Given the description of an element on the screen output the (x, y) to click on. 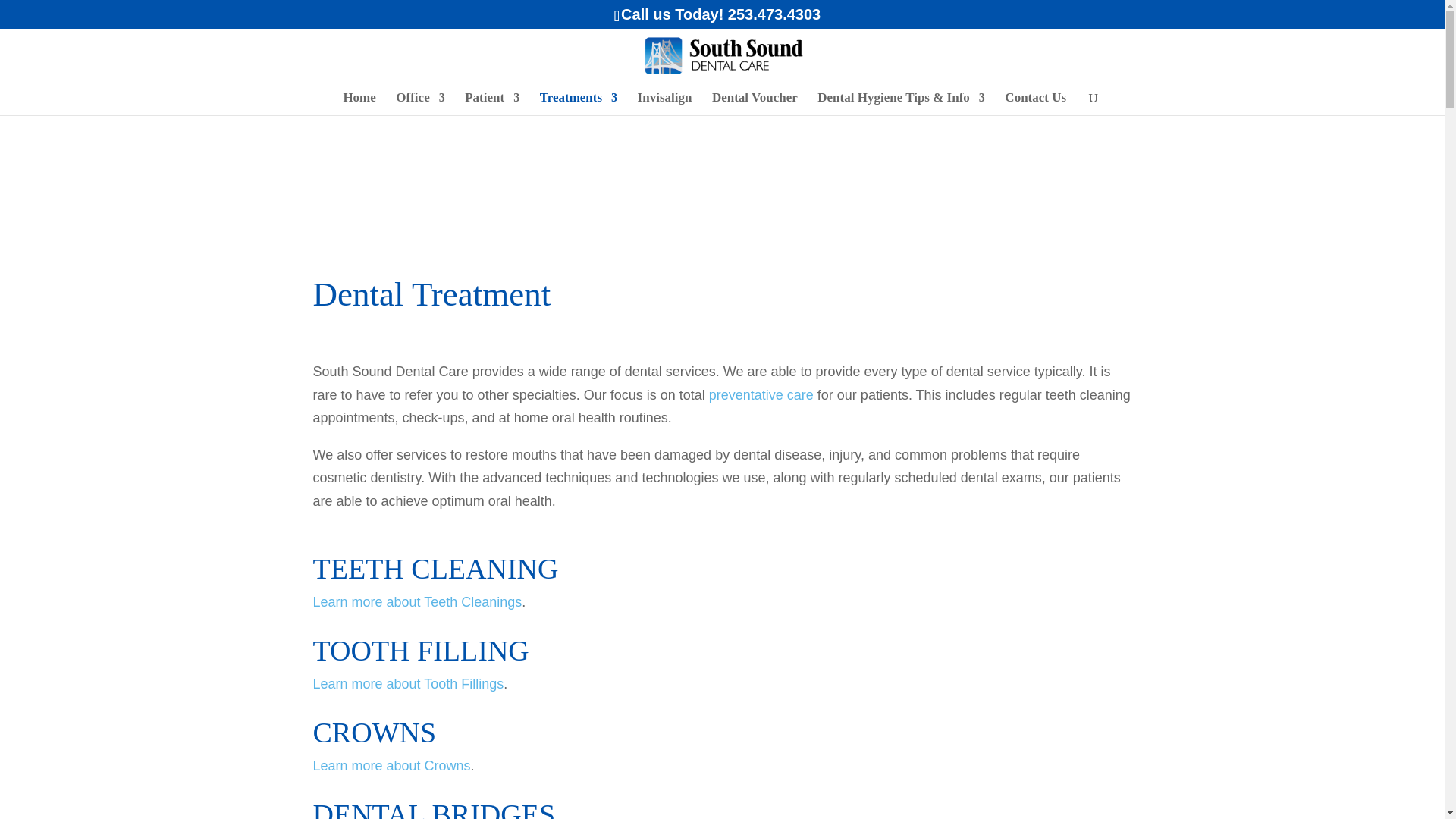
Treatments (578, 103)
Home (358, 103)
Patient (491, 103)
Office (420, 103)
Call us Today! 253.473.4303 (721, 13)
